Given the description of an element on the screen output the (x, y) to click on. 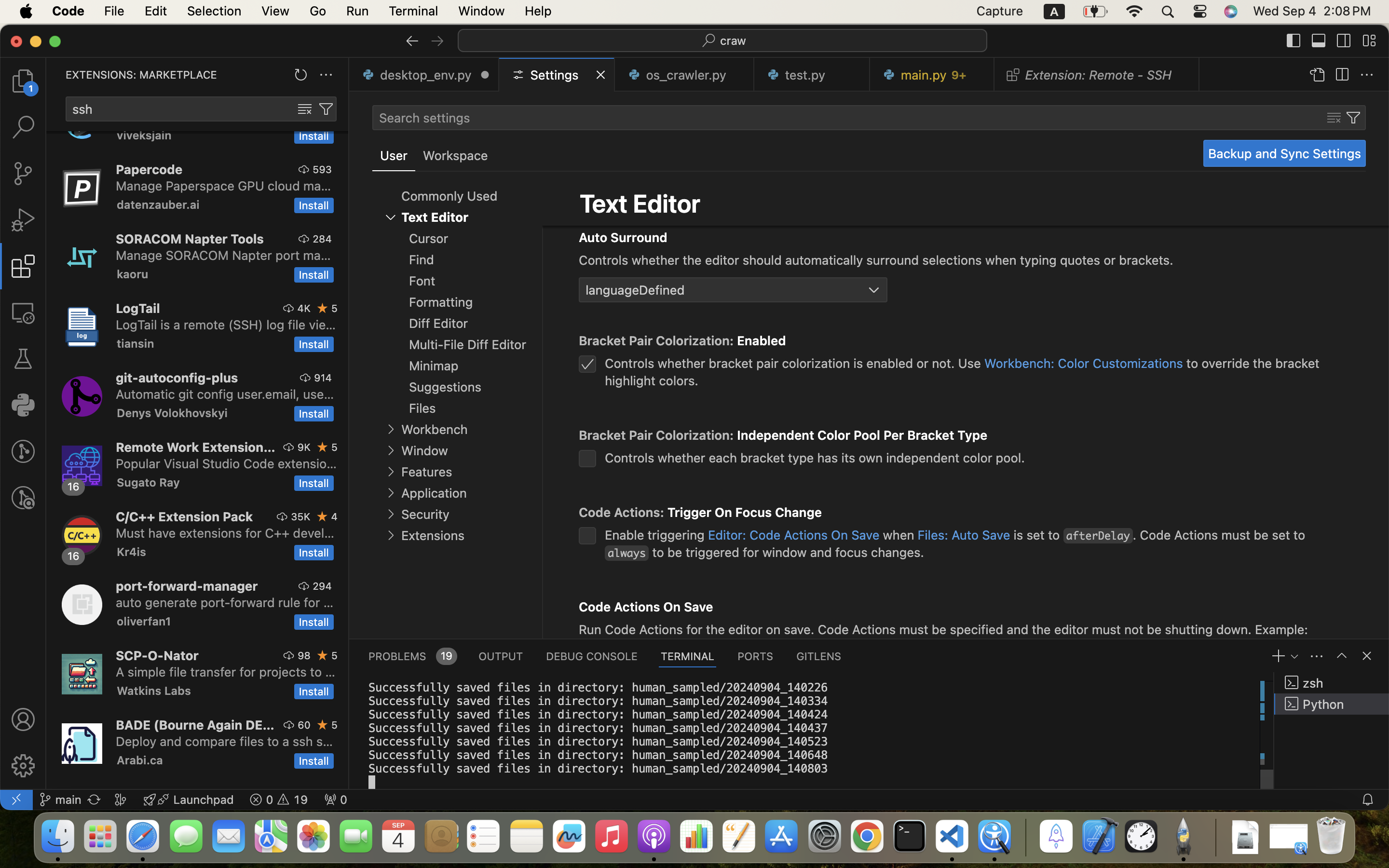
Window Element type: AXStaticText (424, 450)
0 PROBLEMS 19 Element type: AXRadioButton (411, 655)
Find Element type: AXStaticText (421, 259)
git-autoconfig-plus Element type: AXStaticText (176, 377)
4K Element type: AXStaticText (303, 307)
